Given the description of an element on the screen output the (x, y) to click on. 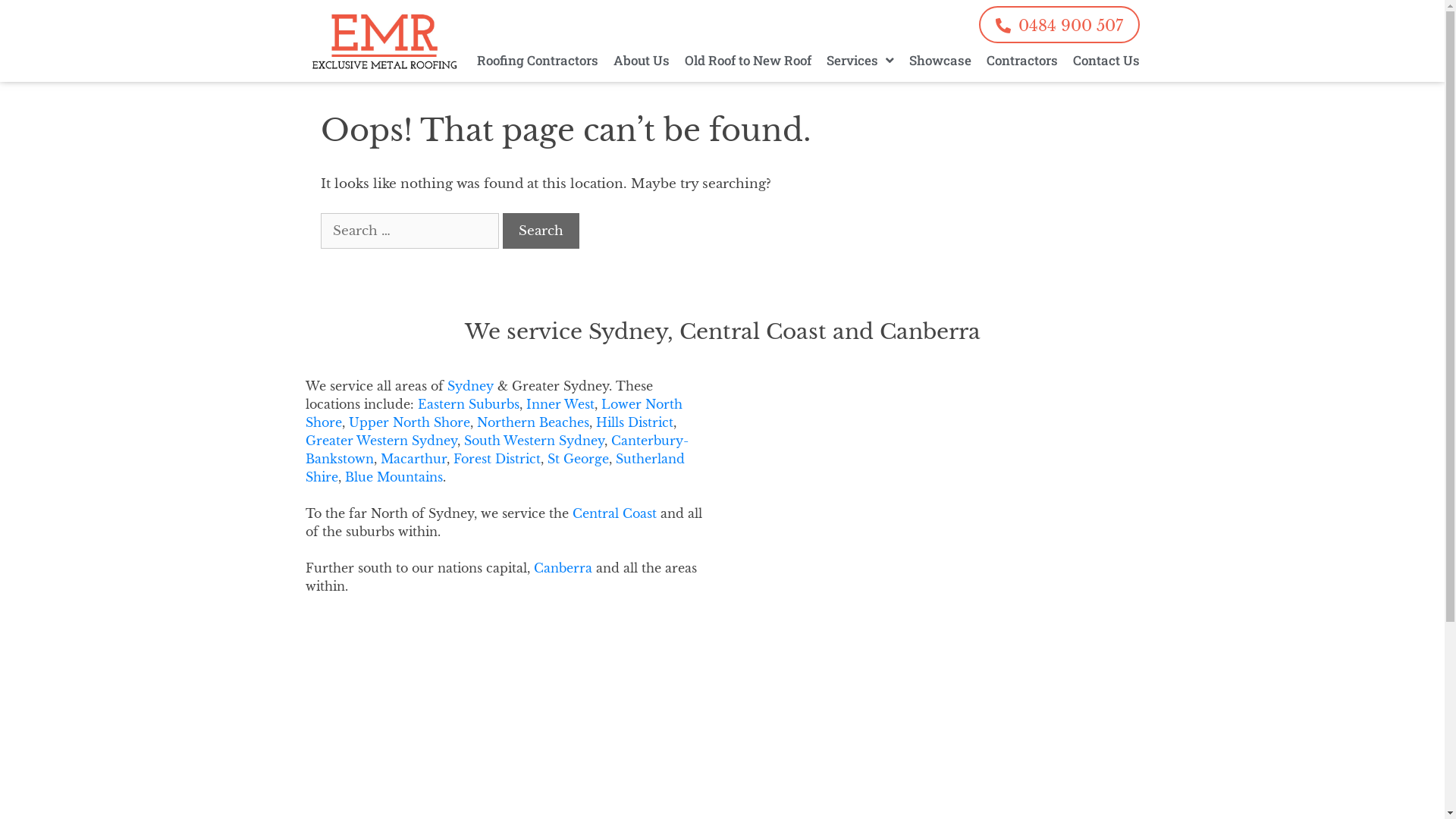
Upper North Shore Element type: text (409, 421)
St George Element type: text (577, 458)
Hills District Element type: text (634, 421)
Search for: Element type: hover (409, 231)
About Us Element type: text (640, 60)
Contractors Element type: text (1021, 60)
Canterbury-Bankstown Element type: text (495, 449)
South Western Sydney Element type: text (534, 440)
Showcase Element type: text (939, 60)
Greater Western Sydney Element type: text (380, 440)
Eastern Suburbs Element type: text (467, 403)
Macarthur Element type: text (413, 458)
Forest District Element type: text (496, 458)
Contact Us Element type: text (1105, 60)
Sutherland Shire Element type: text (494, 467)
0484 900 507 Element type: text (1058, 24)
Services Element type: text (860, 60)
Search Element type: text (540, 231)
Lower North Shore Element type: text (492, 412)
Old Roof to New Roof Element type: text (747, 60)
Canberra Element type: text (562, 567)
Inner West Element type: text (560, 403)
Blue Mountains Element type: text (393, 476)
Central Coast Element type: text (613, 512)
Sydney Element type: text (470, 385)
Roofing Contractors Element type: text (536, 60)
Northern Beaches Element type: text (532, 421)
